Given the description of an element on the screen output the (x, y) to click on. 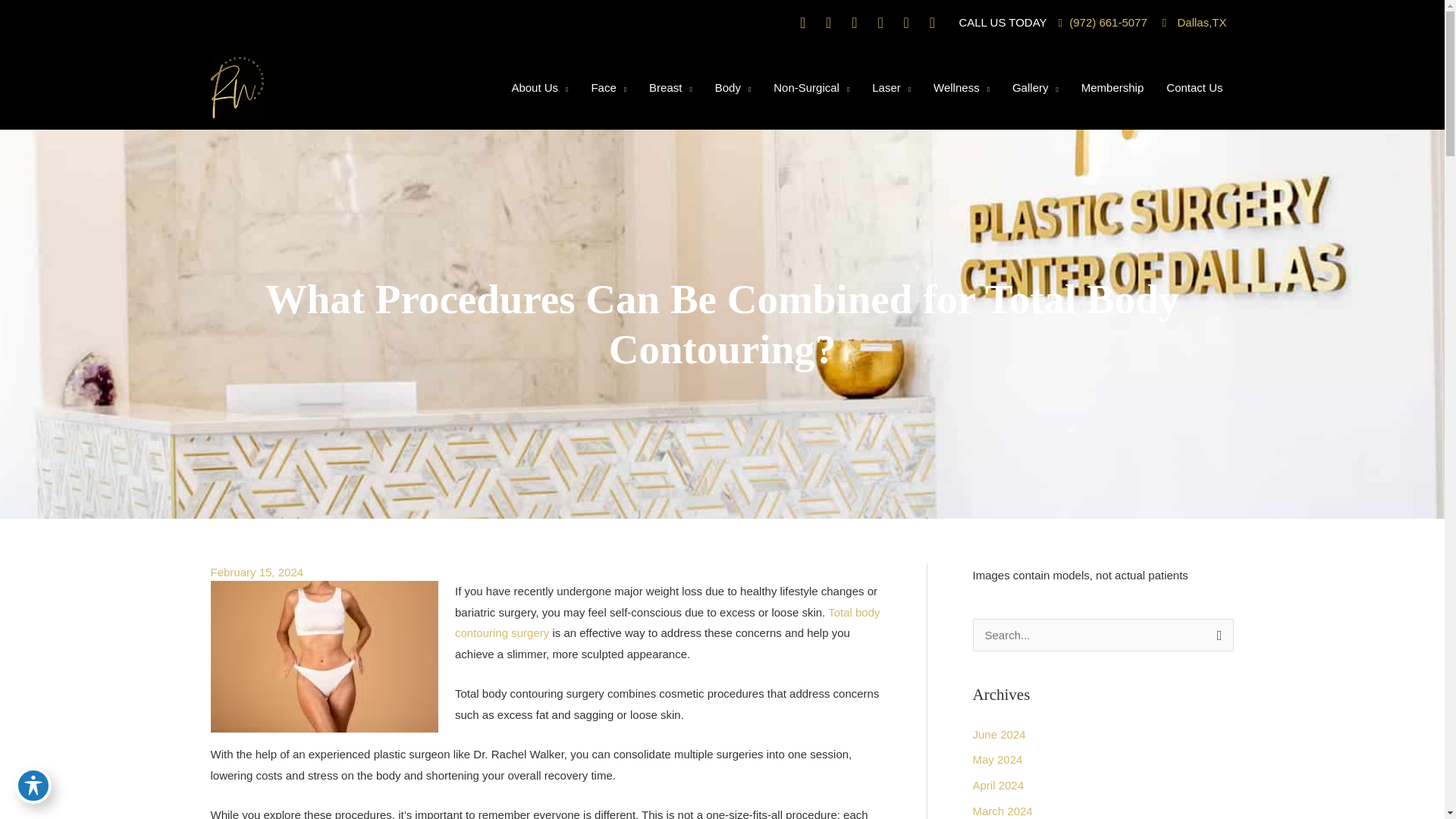
Search (1216, 639)
About Us (539, 86)
Dallas,TX (1194, 21)
Search (1216, 639)
Face (608, 86)
